Given the description of an element on the screen output the (x, y) to click on. 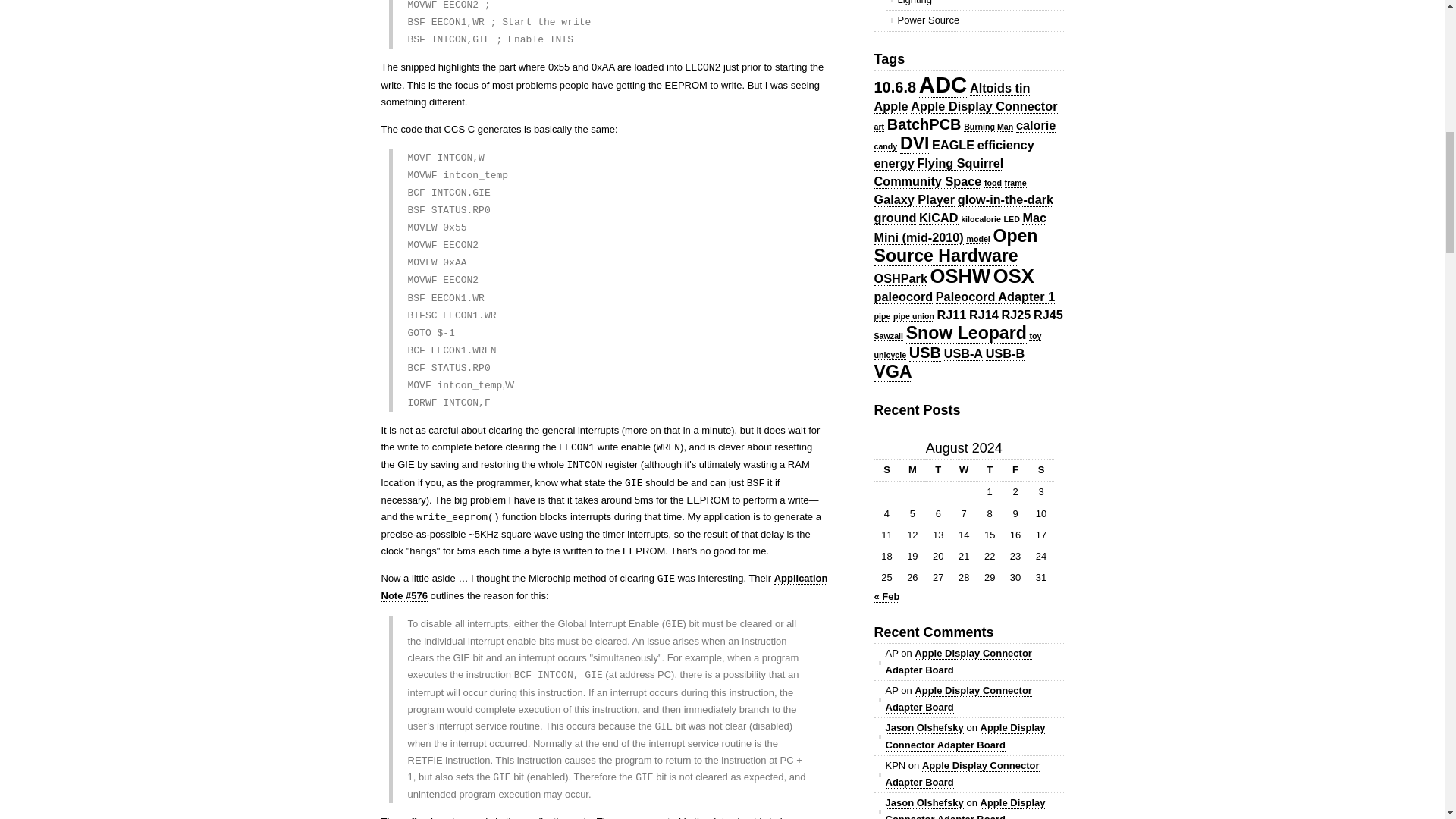
Saturday (1040, 469)
Tuesday (937, 469)
Thursday (989, 469)
Monday (911, 469)
Wednesday (963, 469)
Friday (1015, 469)
Sunday (886, 469)
